Given the description of an element on the screen output the (x, y) to click on. 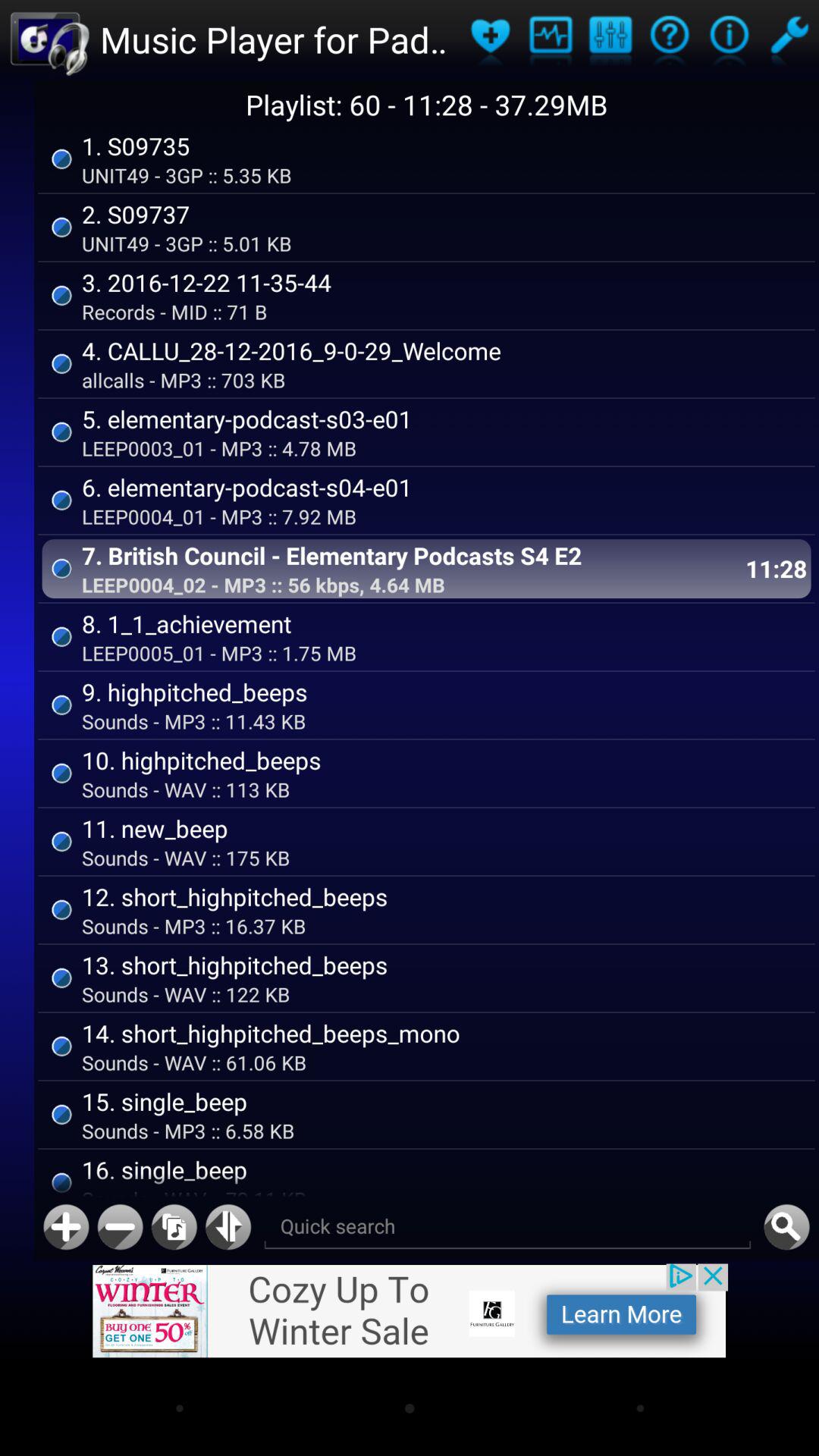
toggle setting option (789, 39)
